Given the description of an element on the screen output the (x, y) to click on. 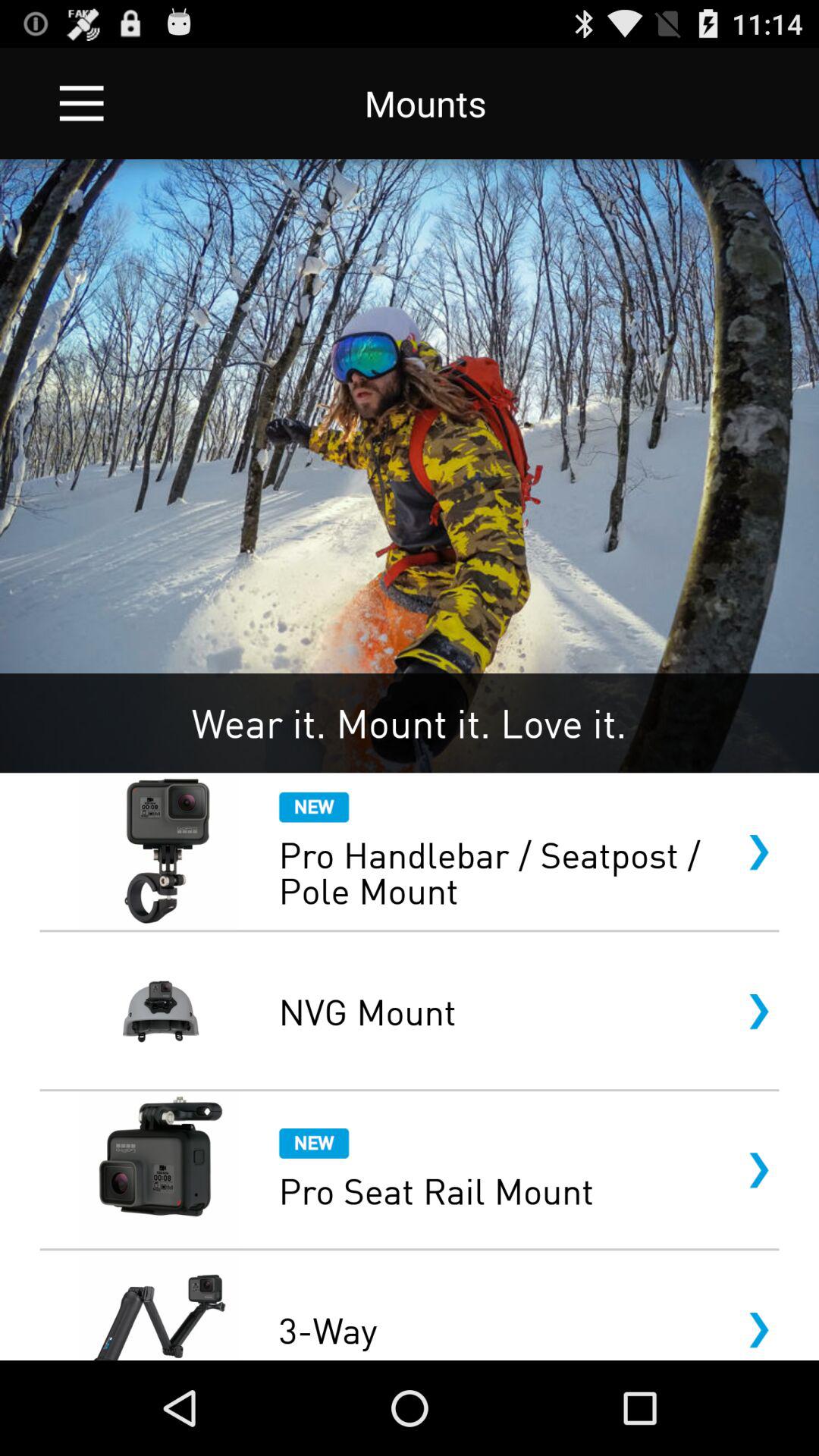
click the icon next to the mounts app (81, 102)
